Given the description of an element on the screen output the (x, y) to click on. 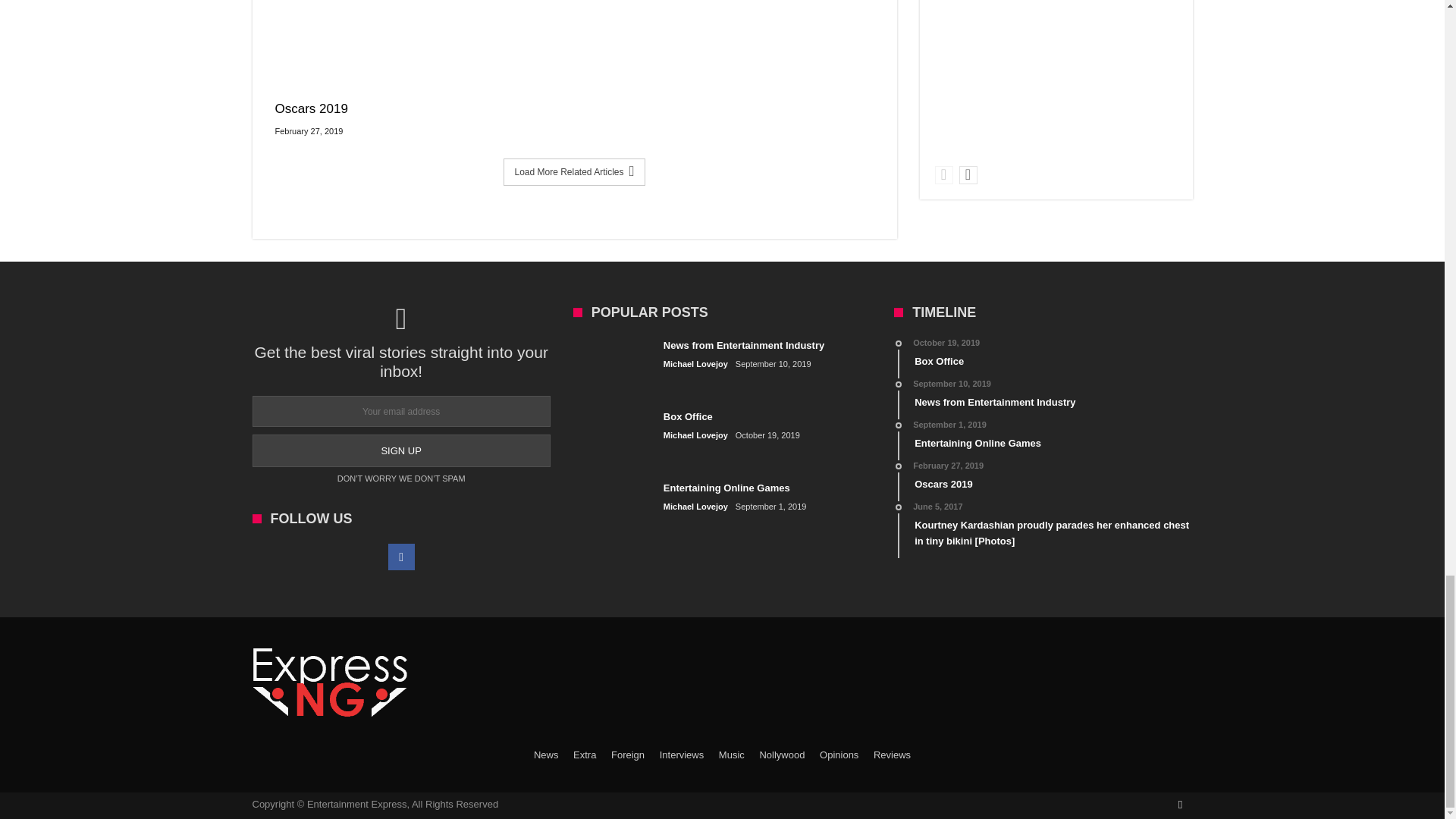
Posts by Michael Lovejoy (695, 506)
Sign up (400, 450)
Posts by Michael Lovejoy (695, 364)
Facebook (401, 557)
Posts by Michael Lovejoy (695, 435)
